Given the description of an element on the screen output the (x, y) to click on. 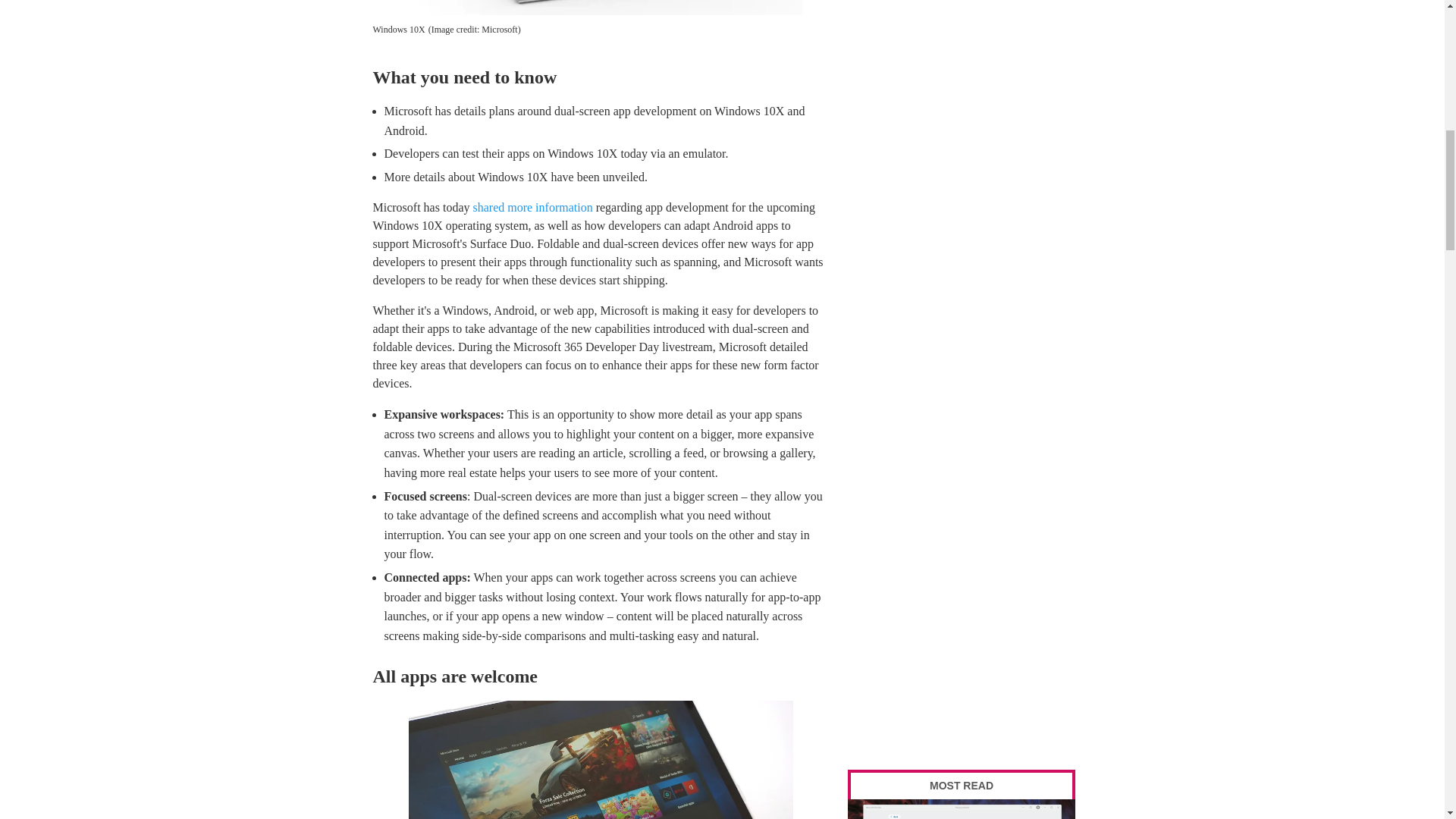
shared more information (531, 206)
